Given the description of an element on the screen output the (x, y) to click on. 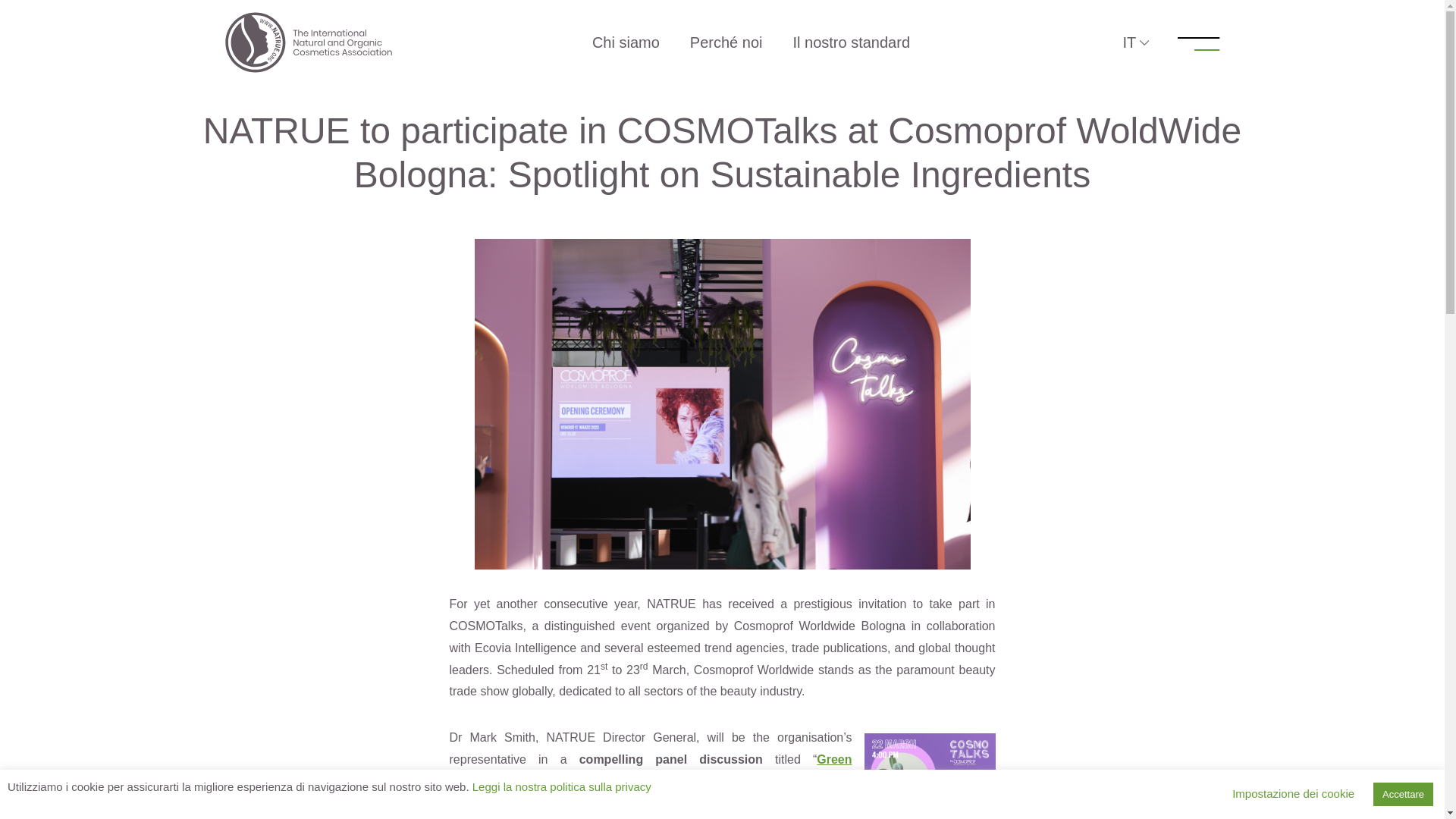
NATRUE (307, 42)
Green Ingredients: Trends and Opportunities (649, 769)
Chi siamo (625, 42)
NATRUE (228, 22)
Il nostro standard (851, 42)
